Given the description of an element on the screen output the (x, y) to click on. 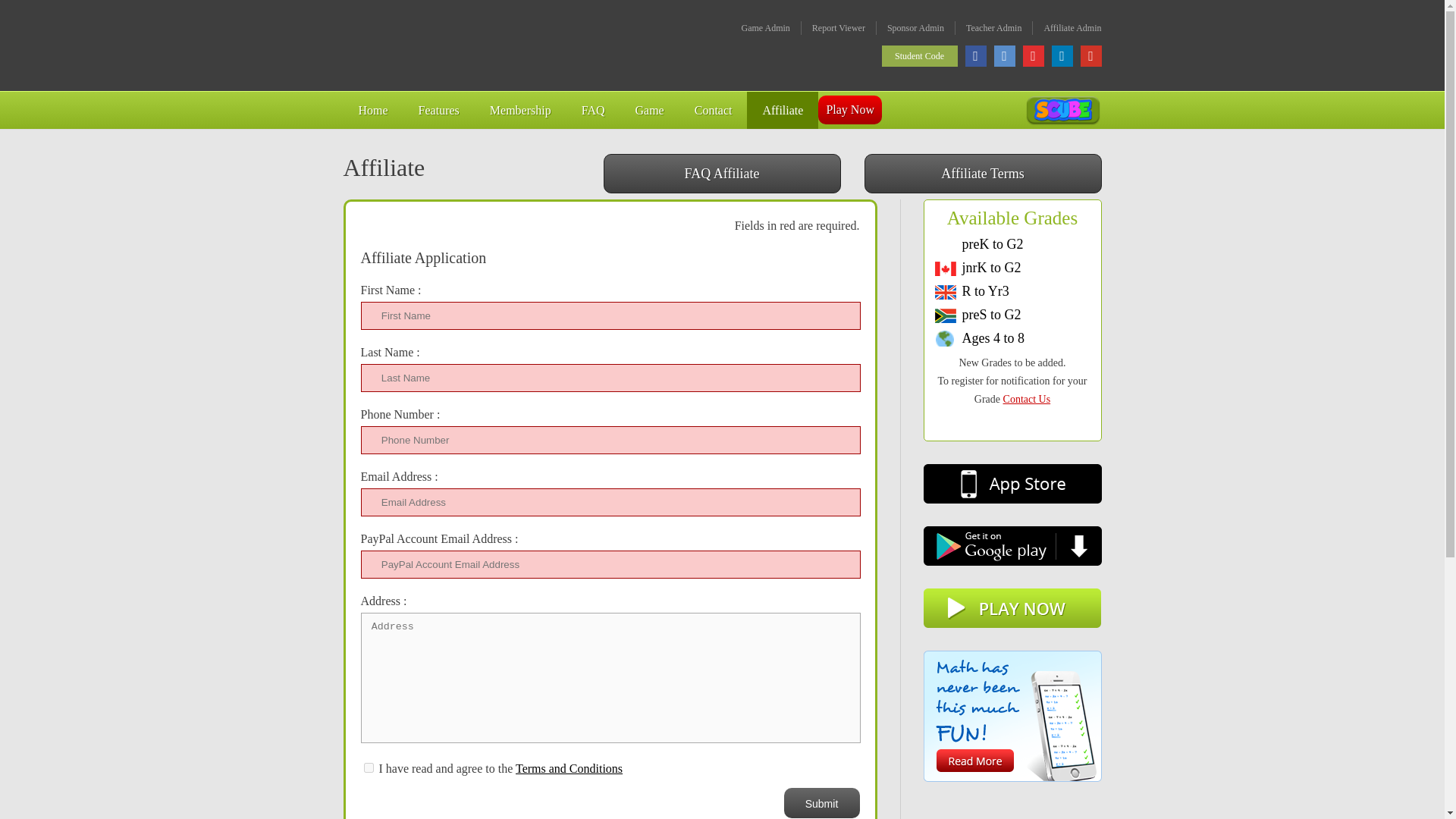
Affiliate (782, 109)
Contact (713, 109)
Game (649, 109)
Contact Us (1027, 399)
Affiliate Admin (1071, 28)
Linked Up Learning - The complete courseware system (446, 46)
Membership (520, 109)
Affiliate Terms (983, 173)
Teacher Admin (994, 28)
FAQ (593, 109)
